Given the description of an element on the screen output the (x, y) to click on. 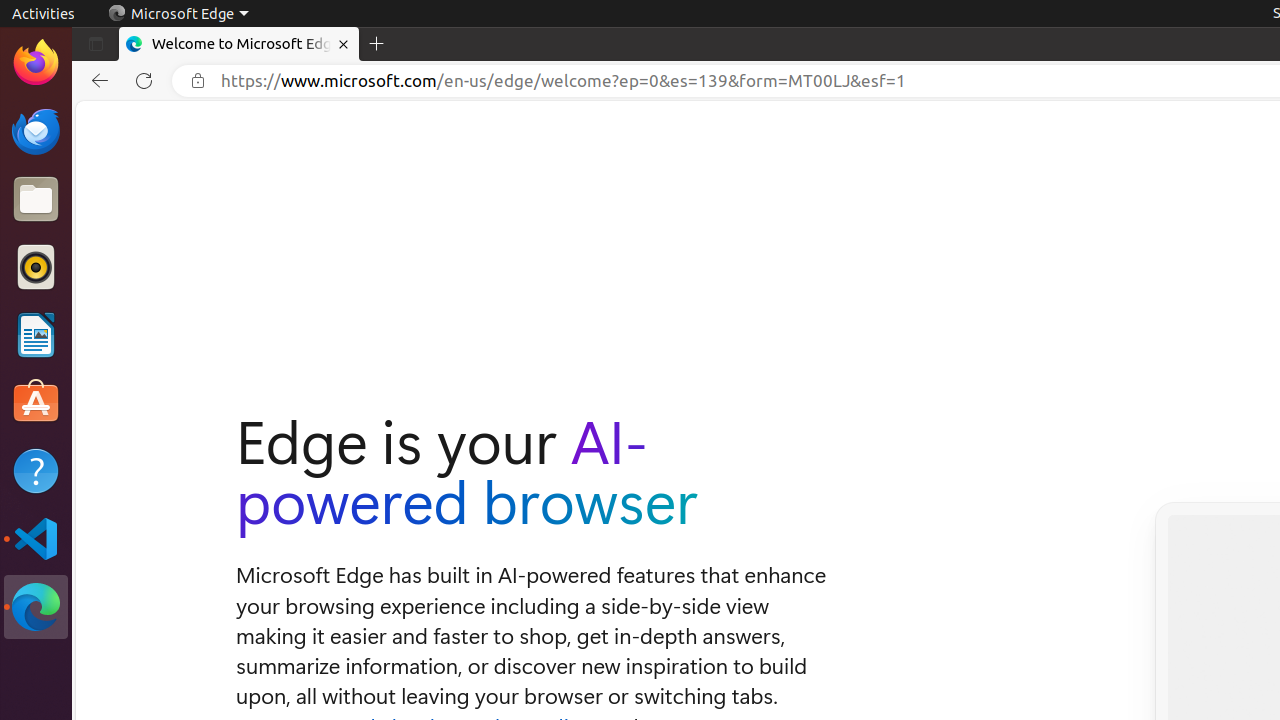
Files Element type: push-button (36, 199)
